Given the description of an element on the screen output the (x, y) to click on. 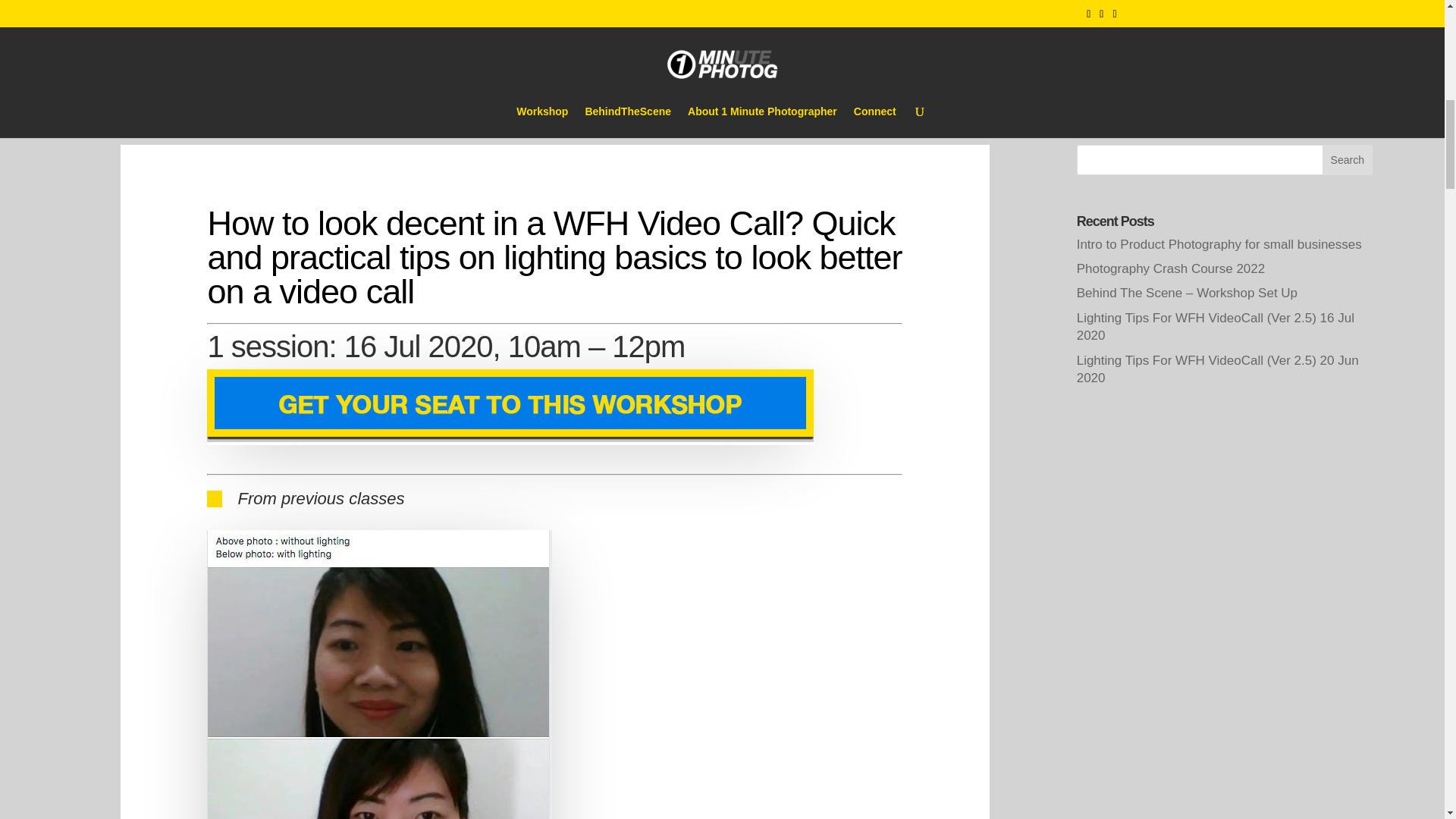
Intro to Product Photography for small businesses (1219, 244)
Photography Crash Course 2022 (1171, 268)
Search (1347, 159)
Search (1347, 159)
